Given the description of an element on the screen output the (x, y) to click on. 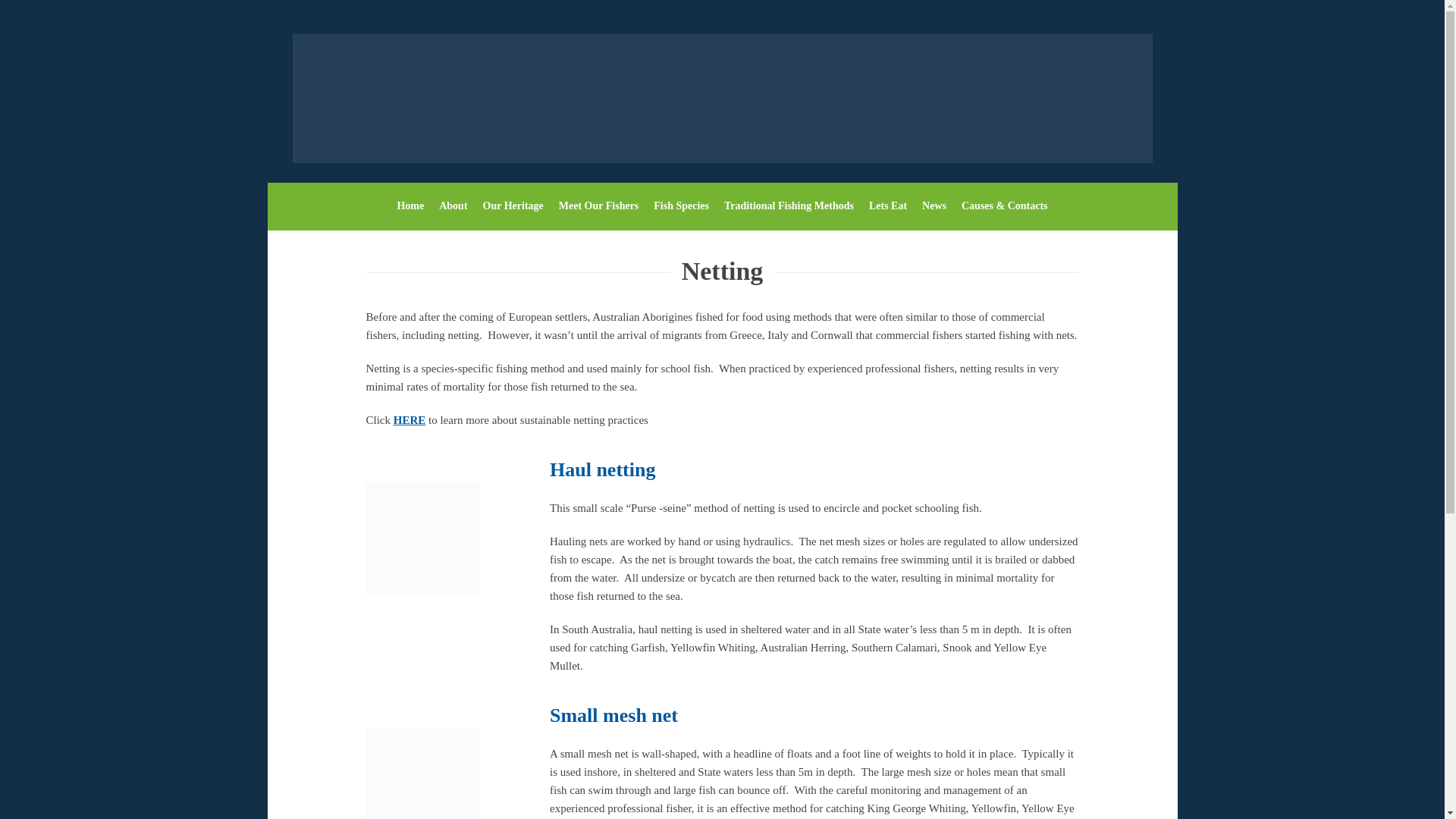
NetEntitlement (422, 539)
SmallMeshNet (422, 773)
